Given the description of an element on the screen output the (x, y) to click on. 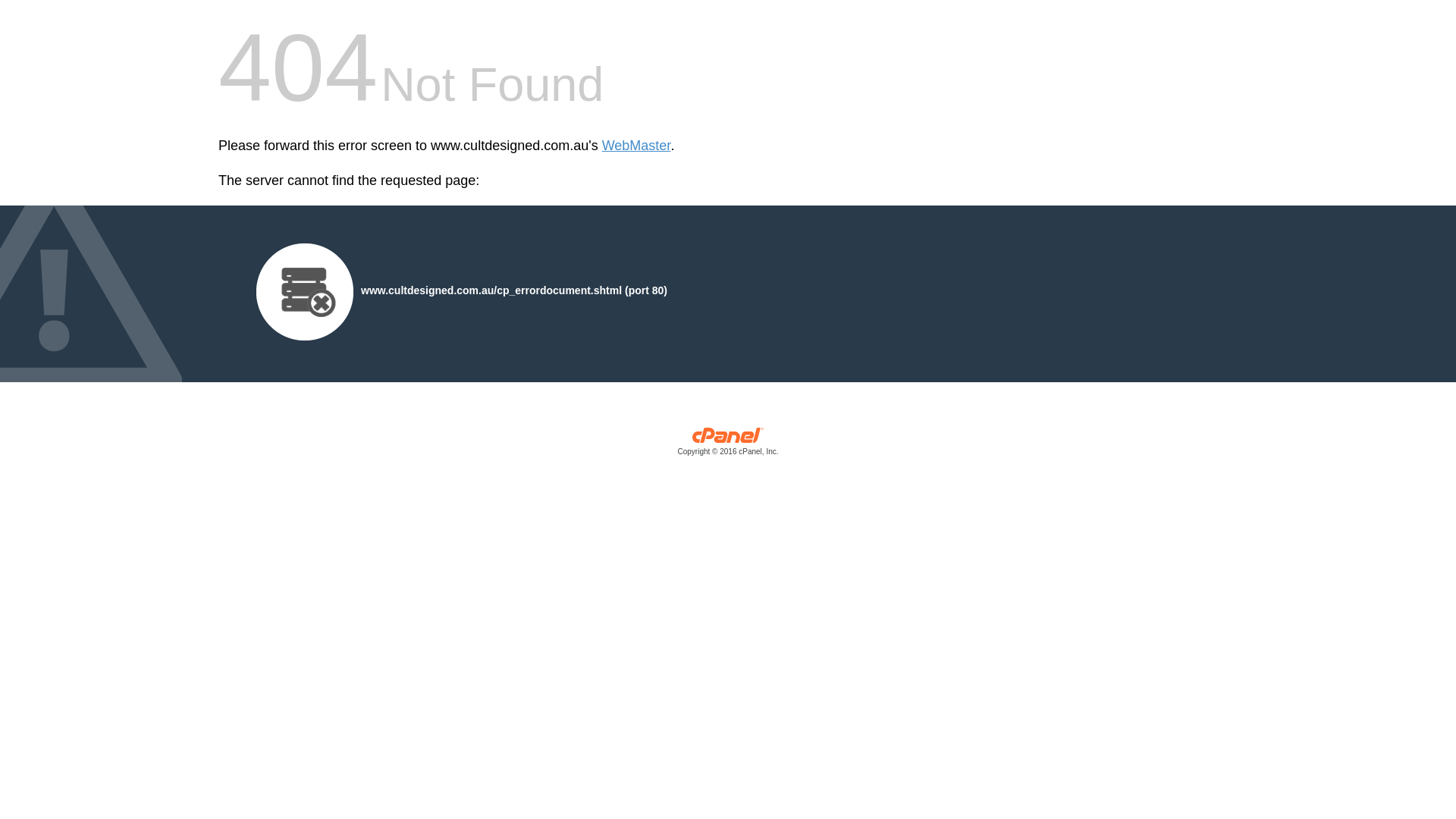
WebMaster Element type: text (636, 145)
